Given the description of an element on the screen output the (x, y) to click on. 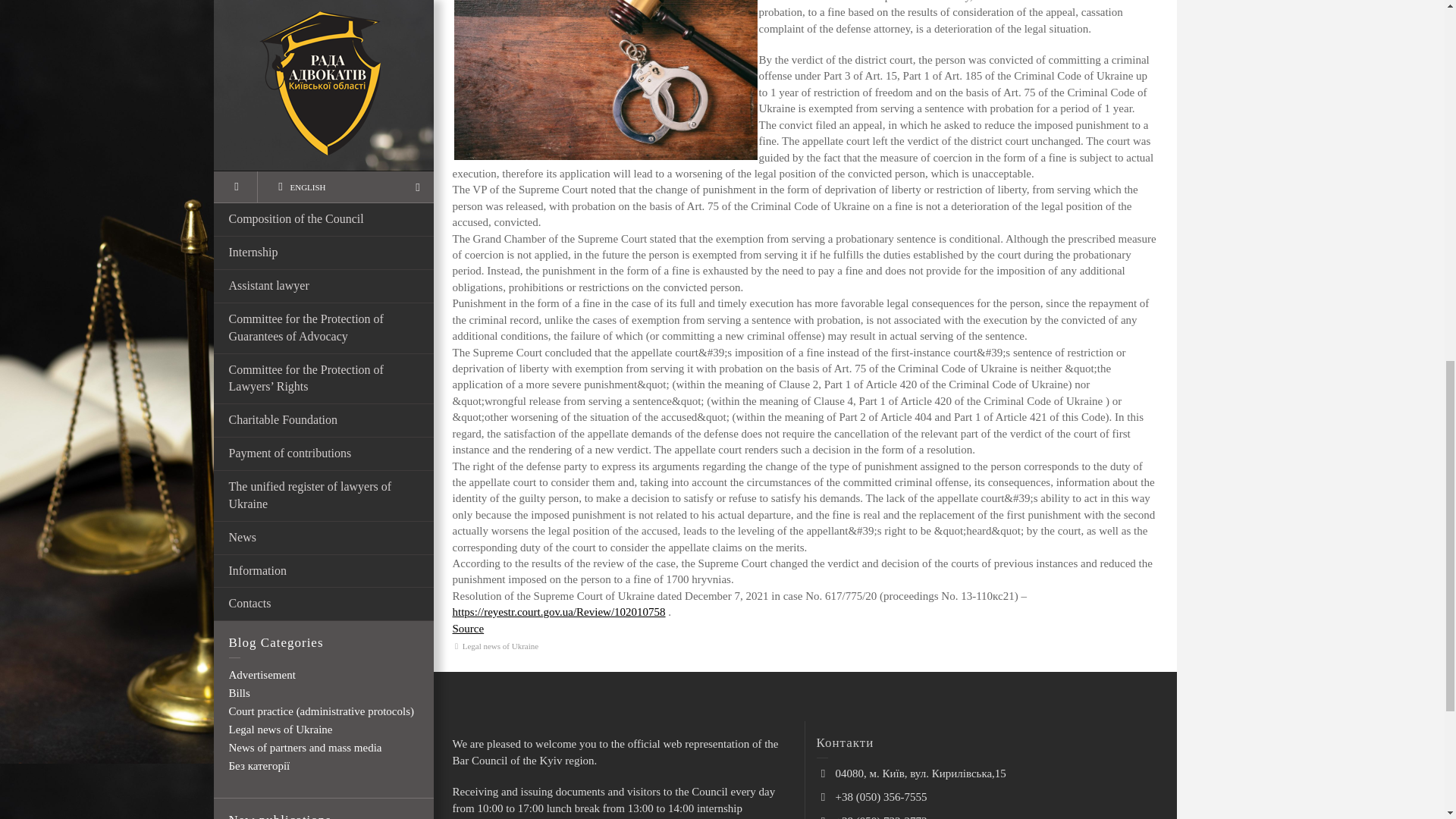
Legal news of Ukraine (500, 645)
Happy birthday to lawyer Nina Chernobay! (345, 215)
Source (467, 628)
Happy birthday to lawyer Nina Chernobay! (345, 215)
